Given the description of an element on the screen output the (x, y) to click on. 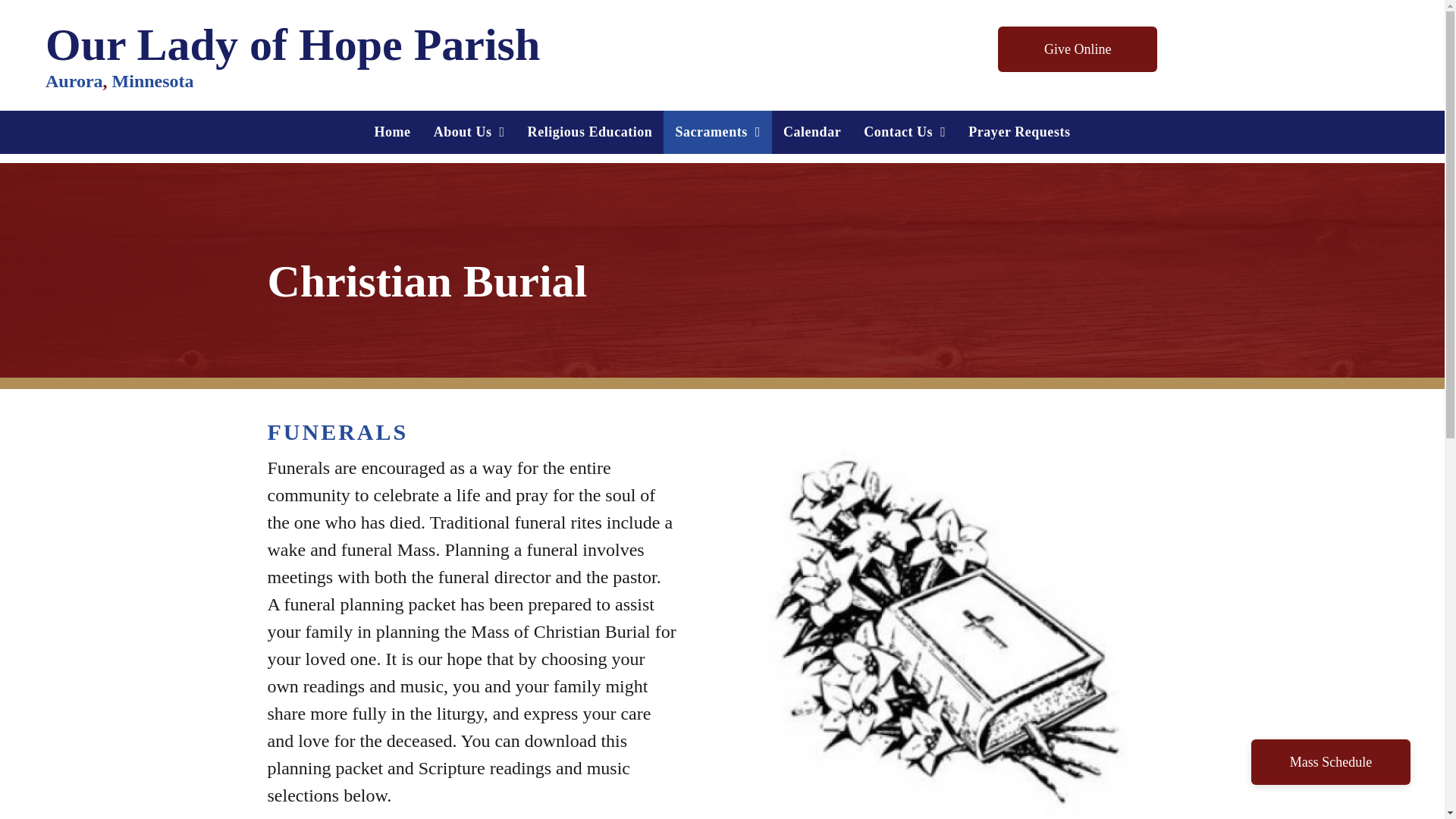
Our Lady of Hope Parish (292, 44)
Home (392, 131)
Mass Schedule (1330, 761)
Minnesota (152, 80)
Prayer Requests (1018, 131)
Contact Us (903, 131)
About Us (469, 131)
Religious Education (589, 131)
Sacraments (717, 131)
Calendar (811, 131)
Give Online (1077, 49)
